Given the description of an element on the screen output the (x, y) to click on. 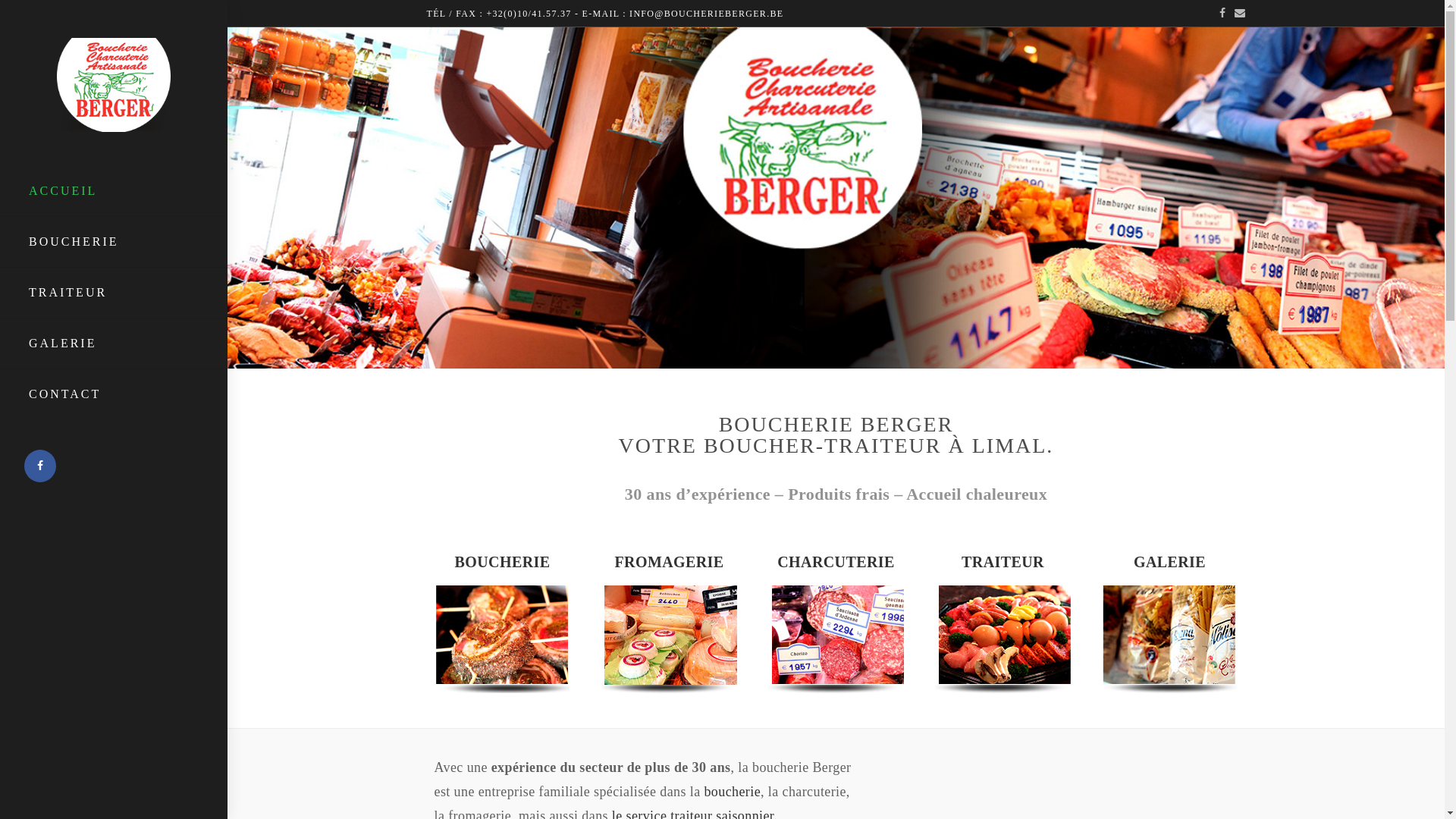
FROMAGERIE Element type: text (668, 561)
Facebook Element type: hover (1222, 13)
E-mail Element type: hover (1237, 13)
boucherie Element type: text (731, 791)
gal1 Element type: hover (1002, 638)
TRAITEUR Element type: text (1002, 561)
BOUCHERIE Element type: text (113, 241)
gal4 Element type: hover (1169, 638)
GALERIE Element type: text (113, 343)
gal1 Element type: hover (668, 638)
TRAITEUR Element type: text (113, 292)
CONTACT Element type: text (113, 394)
GALERIE Element type: text (1169, 561)
gal5 Element type: hover (502, 638)
gal2 Element type: hover (835, 638)
CHARCUTERIE Element type: text (835, 561)
BOUCHERIE Element type: text (502, 561)
ACCUEIL Element type: text (113, 191)
